Given the description of an element on the screen output the (x, y) to click on. 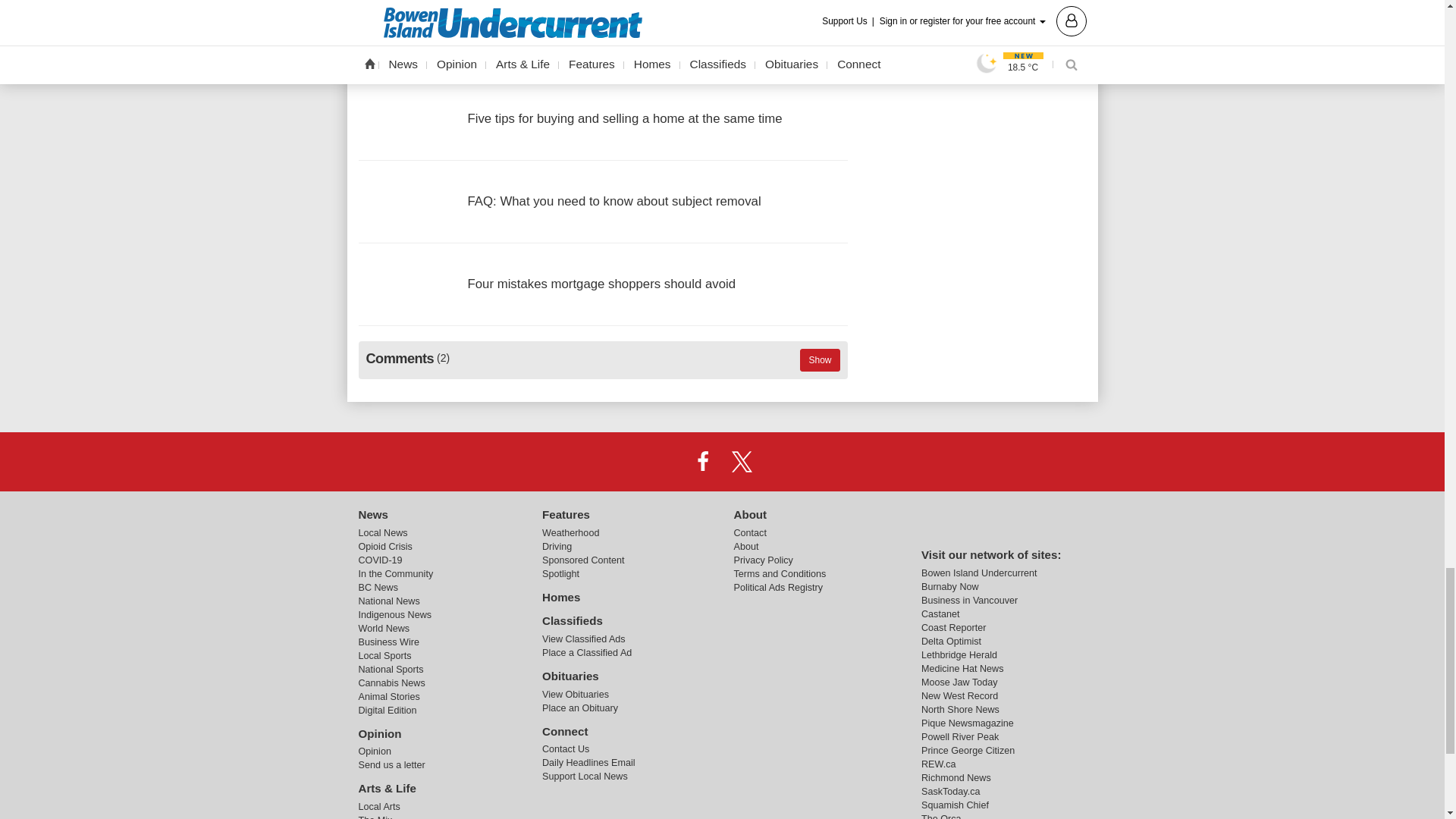
Facebook (702, 461)
X (741, 461)
